Given the description of an element on the screen output the (x, y) to click on. 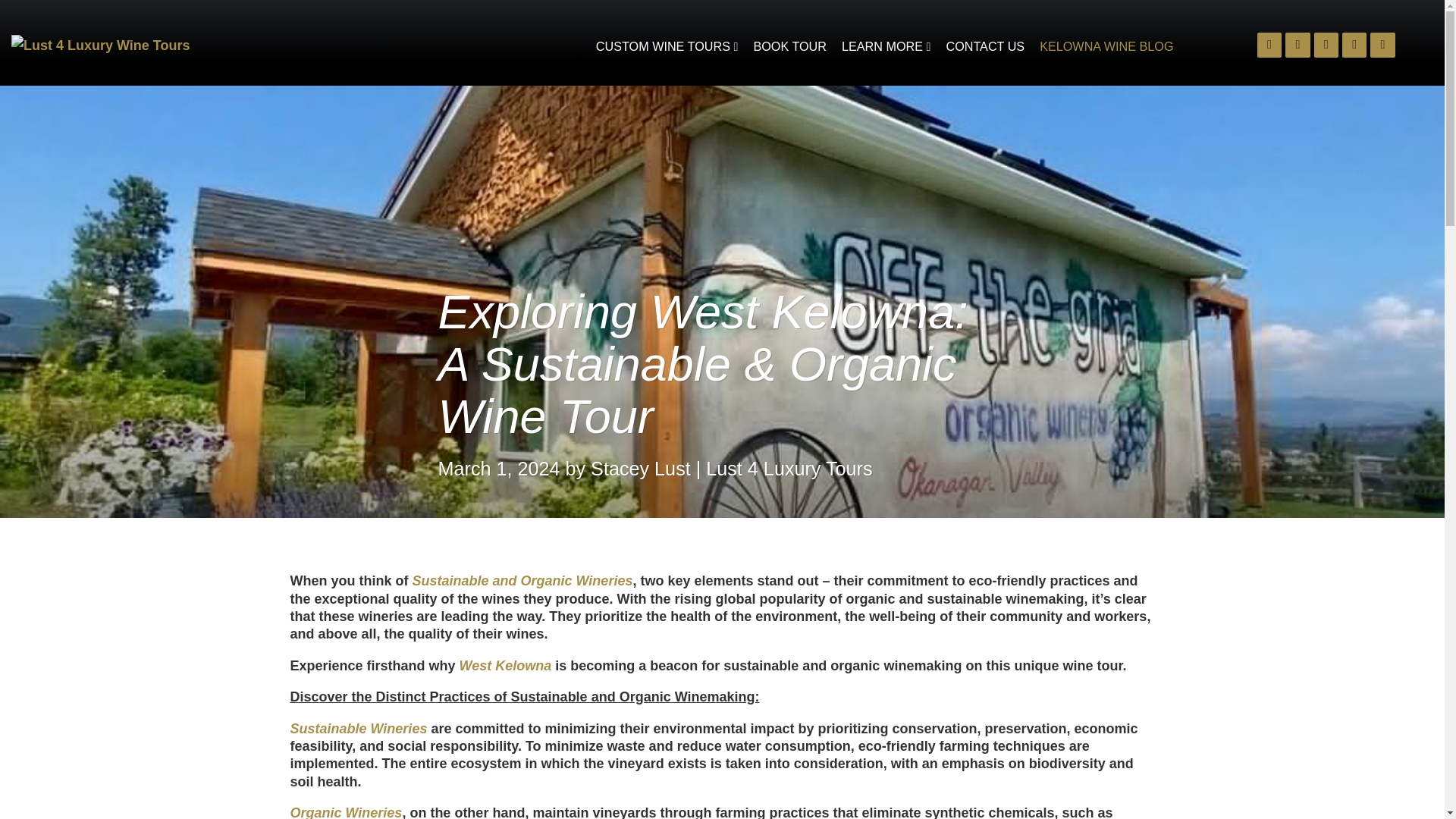
CUSTOM WINE TOURS (666, 46)
BOOK TOUR (789, 46)
Sustainable and Organic Wineries (521, 580)
LEARN MORE (885, 46)
Sustainable Wineries (357, 727)
West Kelowna (505, 665)
Organic Wineries (345, 812)
KELOWNA WINE BLOG (1106, 46)
Lust 4 Luxury Wine Tours (180, 45)
CONTACT US (984, 46)
